Given the description of an element on the screen output the (x, y) to click on. 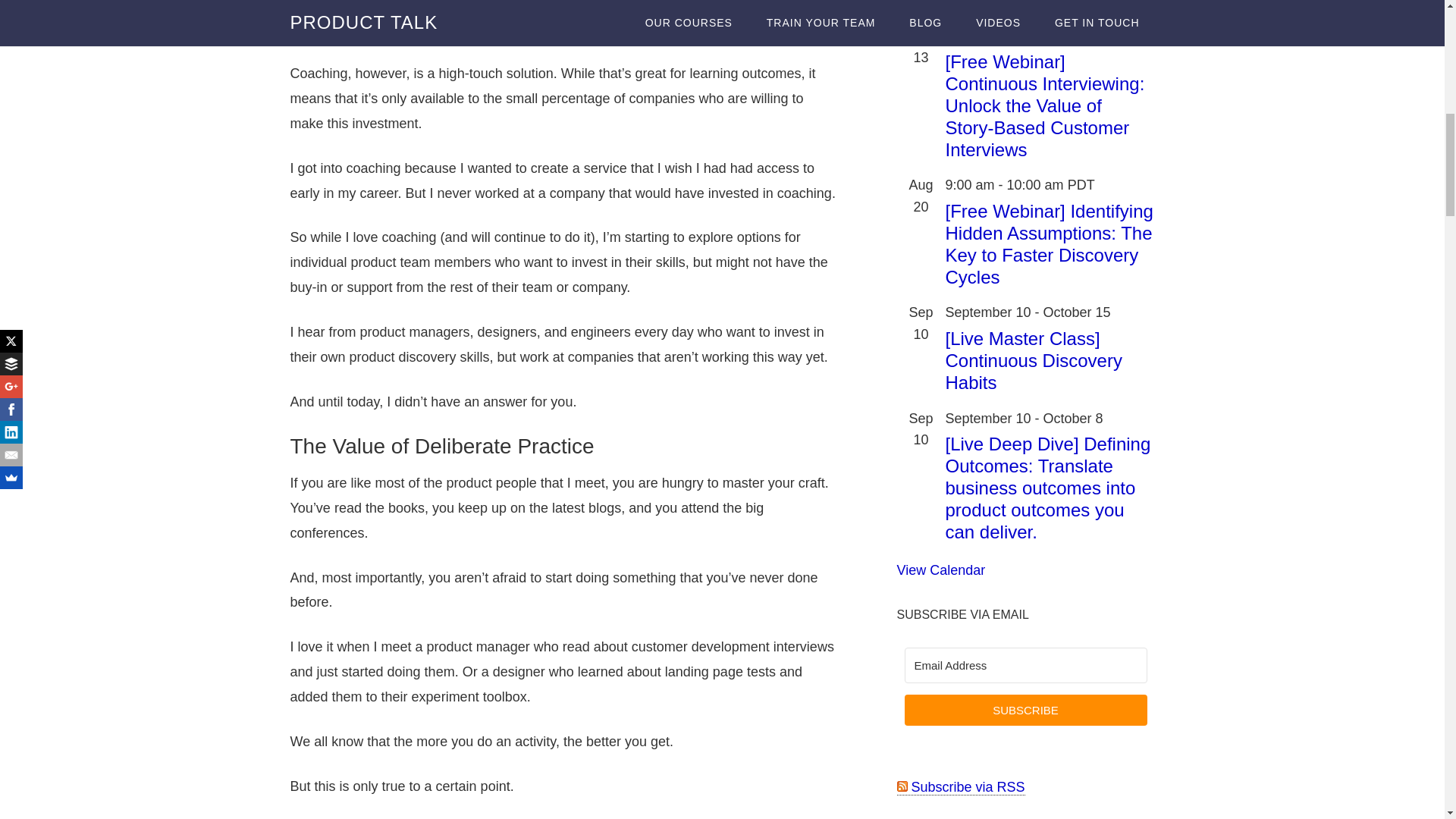
RSS Feed (901, 786)
RSS Feed (960, 787)
View Calendar (940, 570)
View more events. (940, 570)
